Given the description of an element on the screen output the (x, y) to click on. 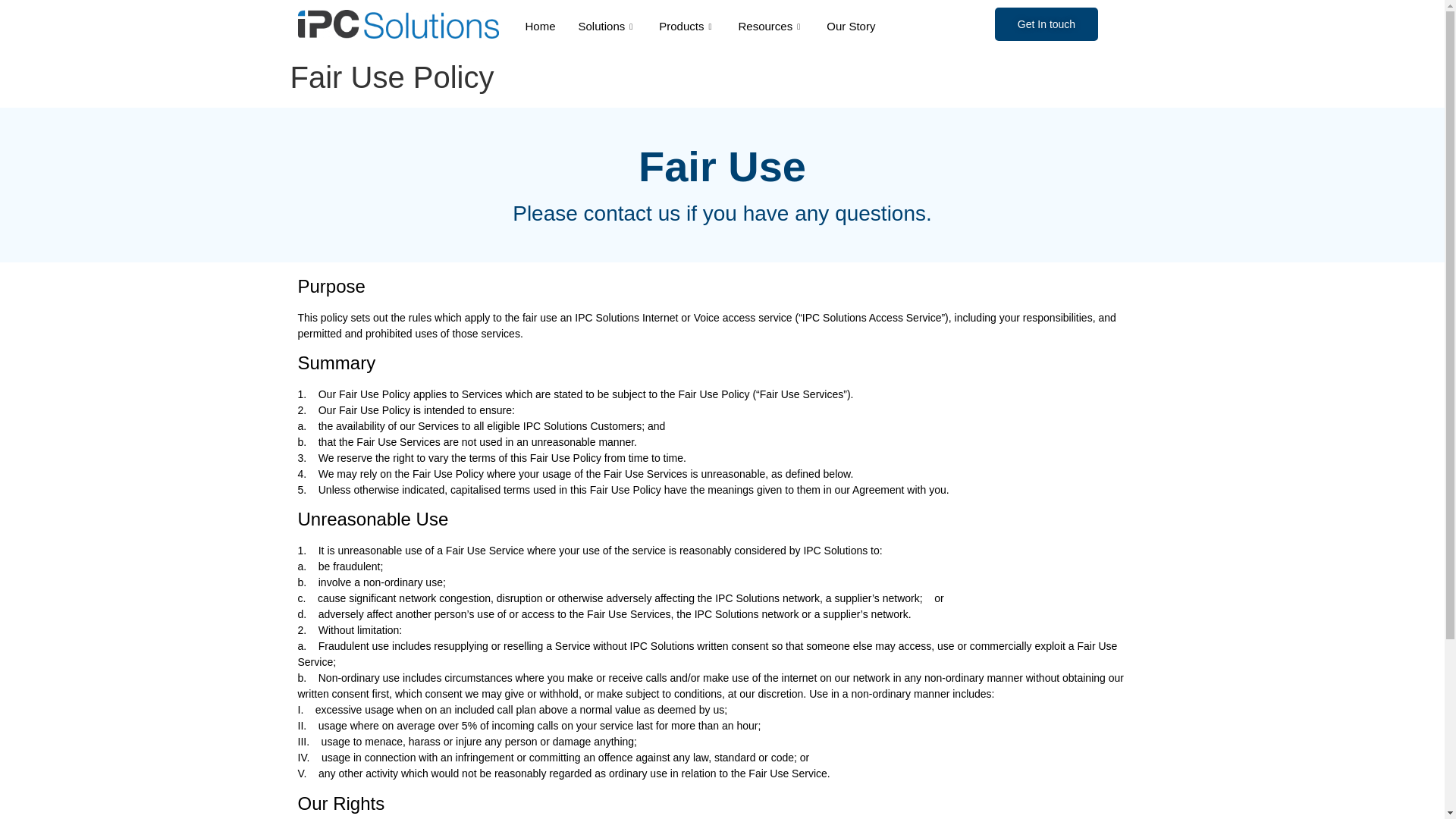
Solutions (607, 26)
Our Story (850, 26)
Products (686, 26)
Home (540, 26)
Resources (770, 26)
